Given the description of an element on the screen output the (x, y) to click on. 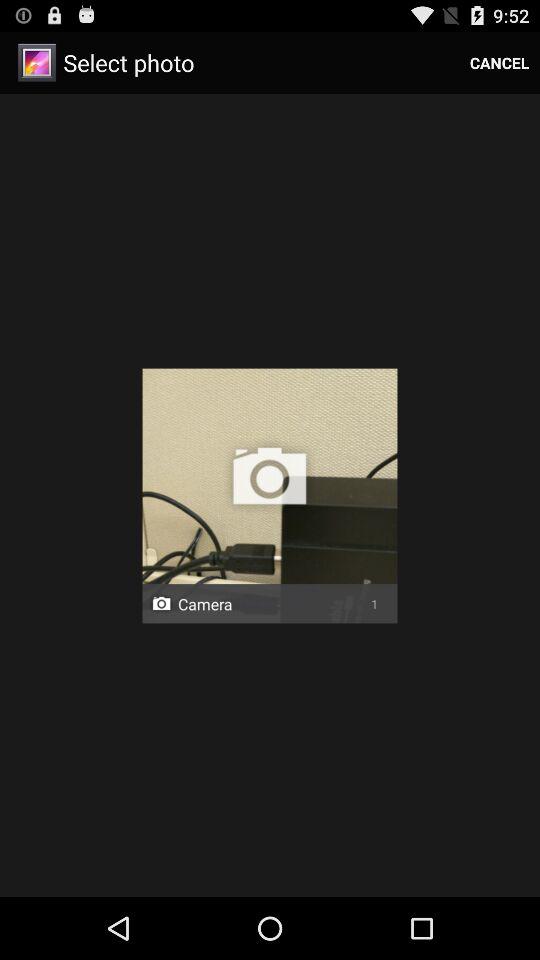
choose the item at the top right corner (499, 62)
